Given the description of an element on the screen output the (x, y) to click on. 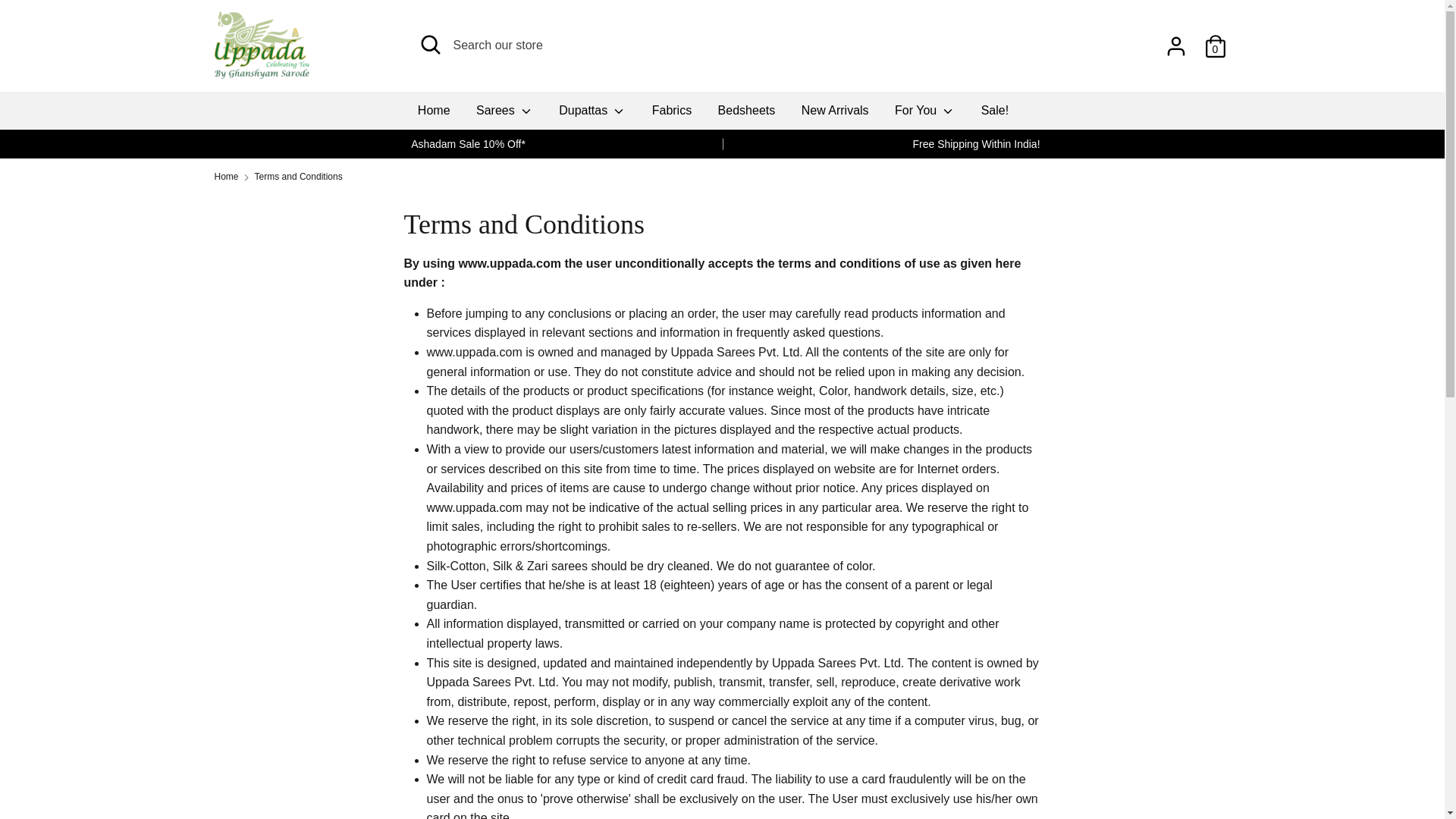
0 (1214, 40)
